Given the description of an element on the screen output the (x, y) to click on. 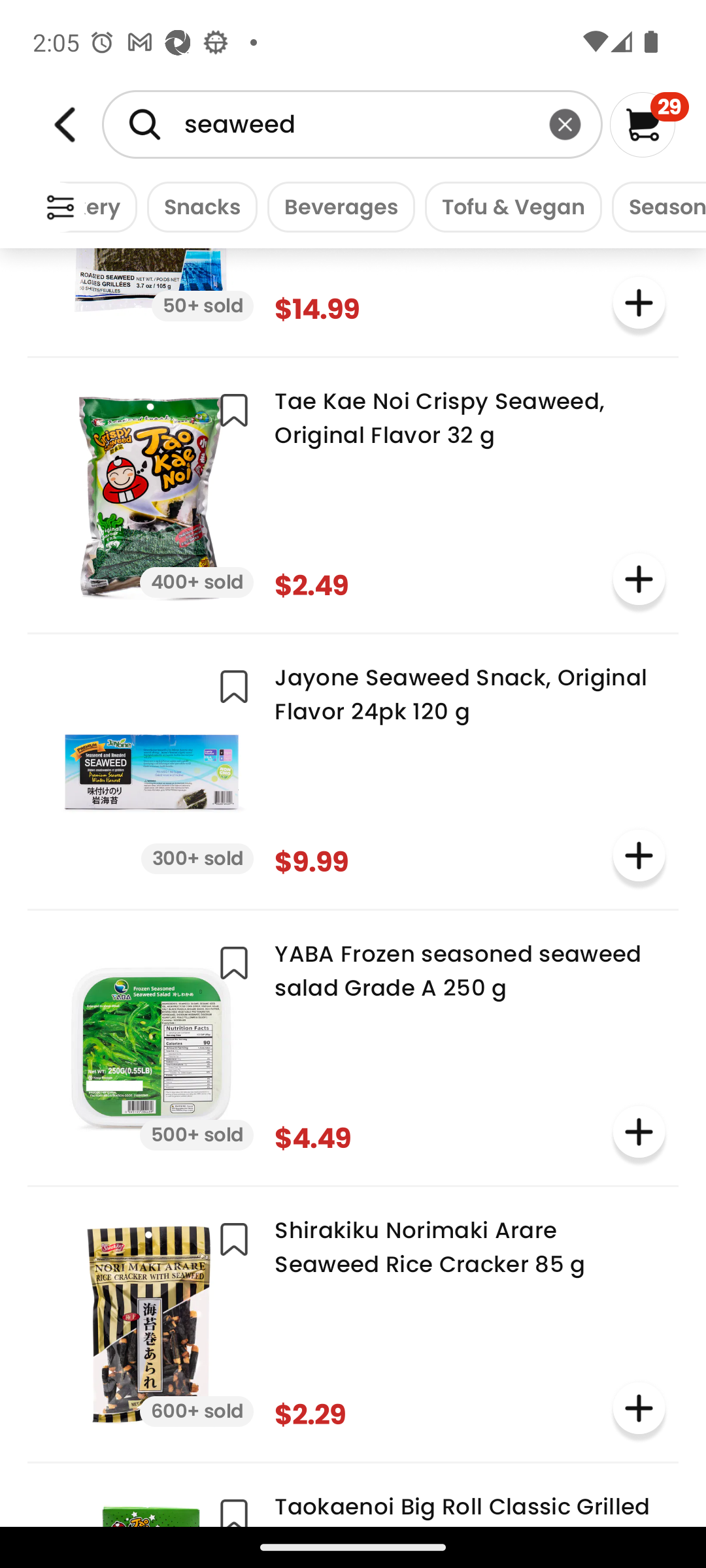
seaweed (351, 124)
29 (649, 124)
Weee! (60, 207)
Bakery (98, 206)
Snacks (196, 206)
Beverages (336, 206)
Tofu & Vegan (508, 206)
Seasoning (654, 206)
